Given the description of an element on the screen output the (x, y) to click on. 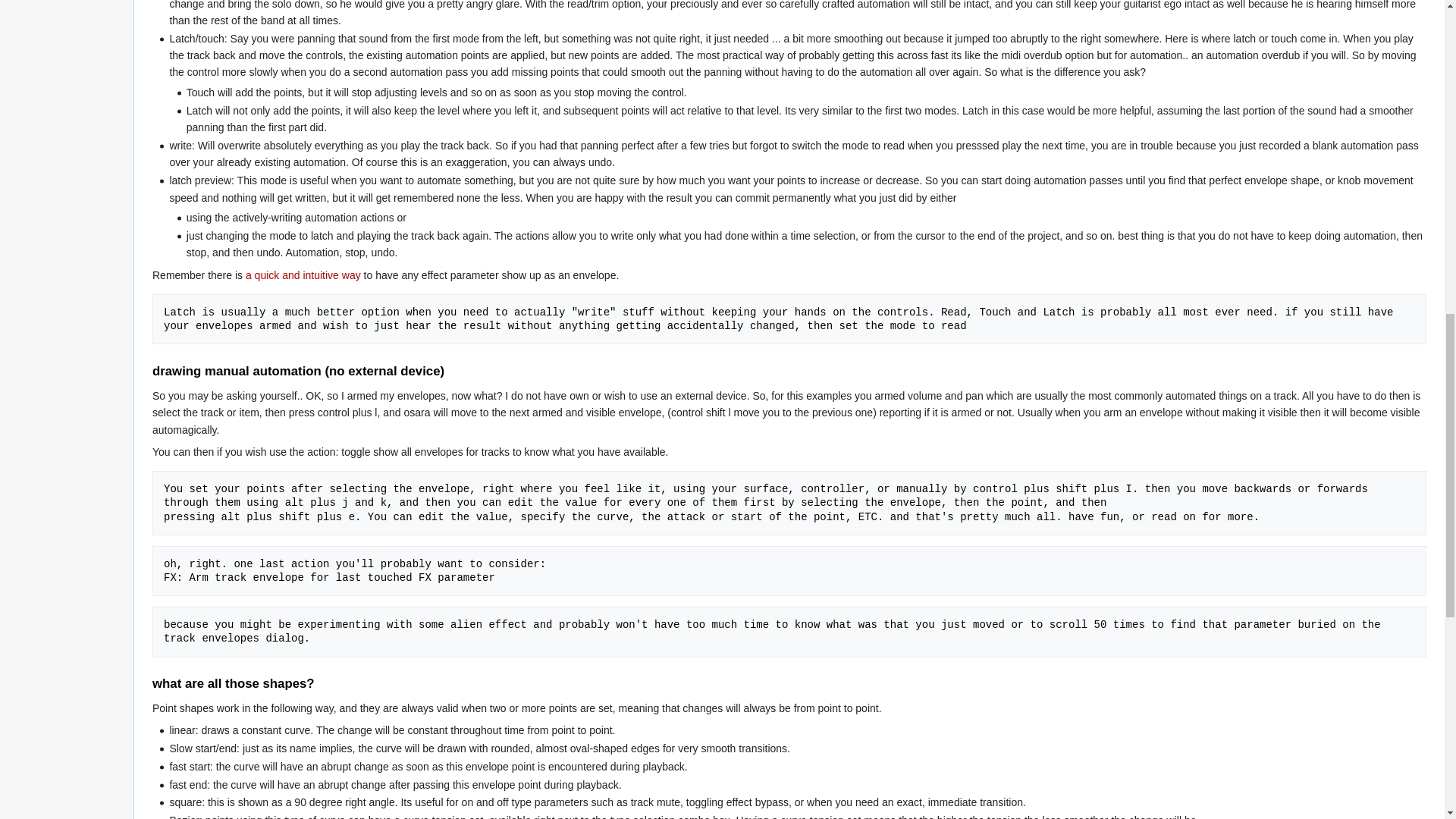
a quick and intuitive way (303, 275)
